Given the description of an element on the screen output the (x, y) to click on. 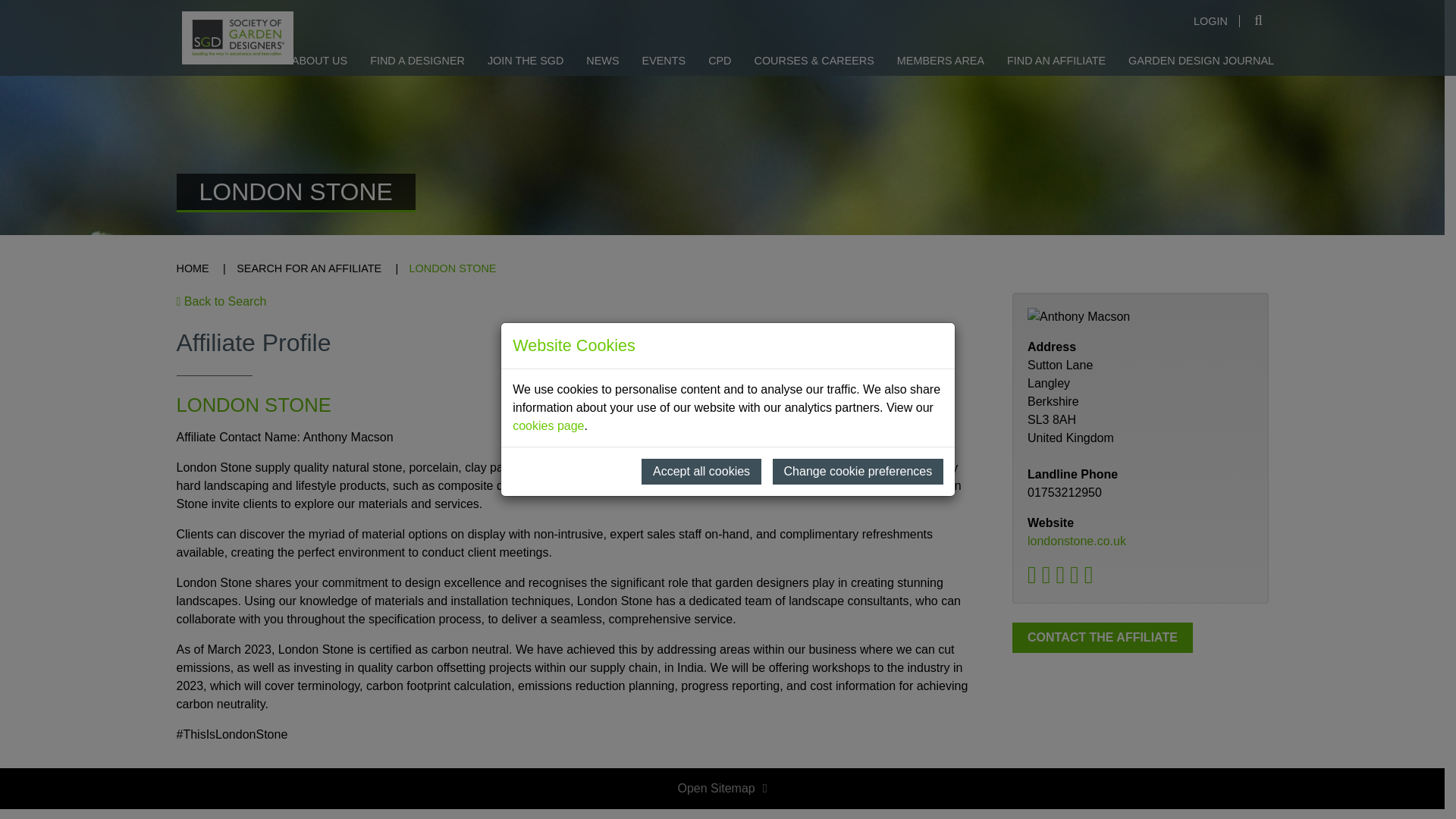
Facebook (1062, 578)
Instagram (1091, 578)
cookies page (547, 425)
FIND A DESIGNER (417, 60)
Accept all cookies (701, 471)
Pinterest (1077, 578)
LOGIN (1211, 21)
Accept all cookies (701, 471)
Change cookie preferences (858, 471)
Anthony Macson (1140, 316)
LinkedIn (1049, 578)
londonstone.co.uk (1076, 540)
JOIN THE SGD (525, 60)
NEWS (602, 60)
Skip to main content (21, 21)
